Given the description of an element on the screen output the (x, y) to click on. 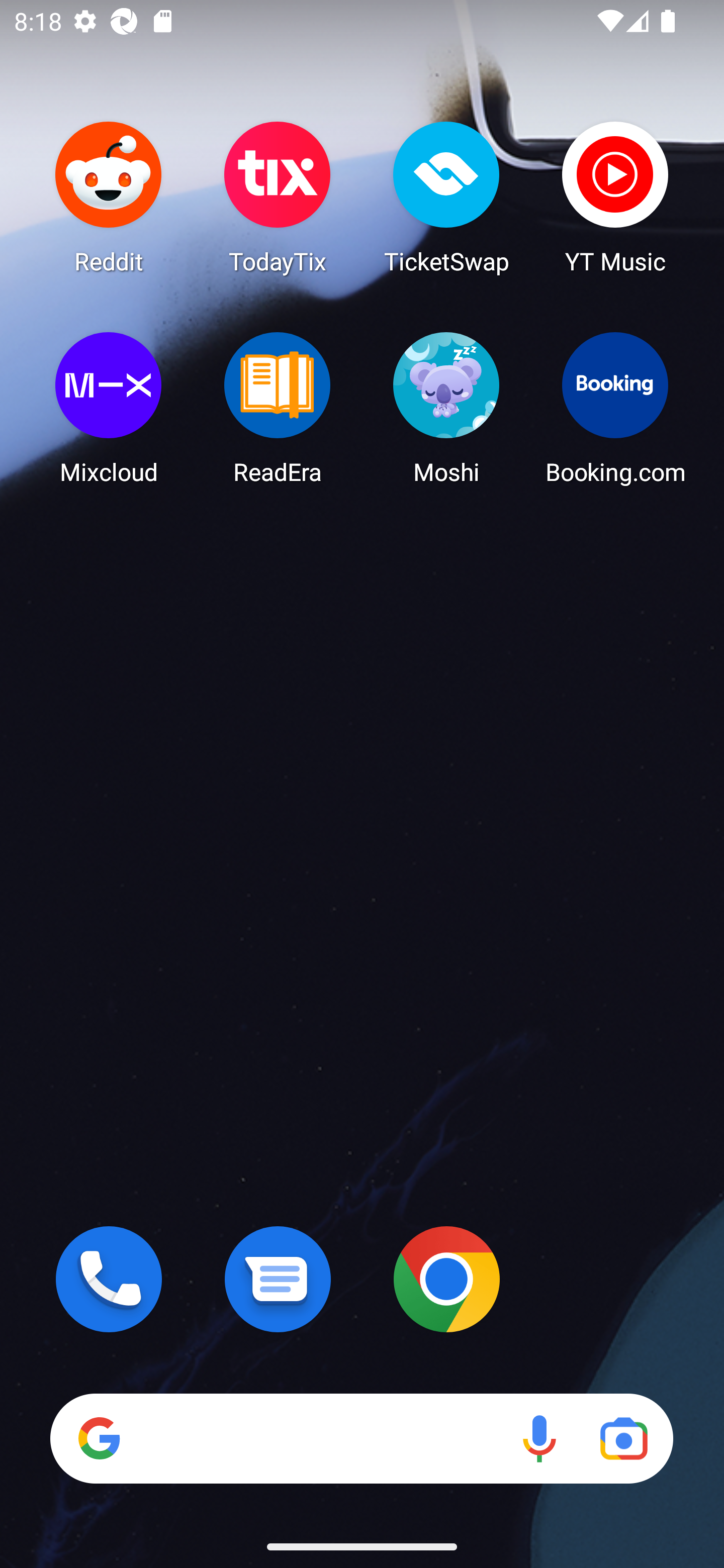
Reddit (108, 196)
TodayTix (277, 196)
TicketSwap (445, 196)
YT Music (615, 196)
Mixcloud (108, 407)
ReadEra (277, 407)
Moshi (445, 407)
Booking.com (615, 407)
Phone (108, 1279)
Messages (277, 1279)
Chrome (446, 1279)
Search Voice search Google Lens (361, 1438)
Voice search (539, 1438)
Google Lens (623, 1438)
